Given the description of an element on the screen output the (x, y) to click on. 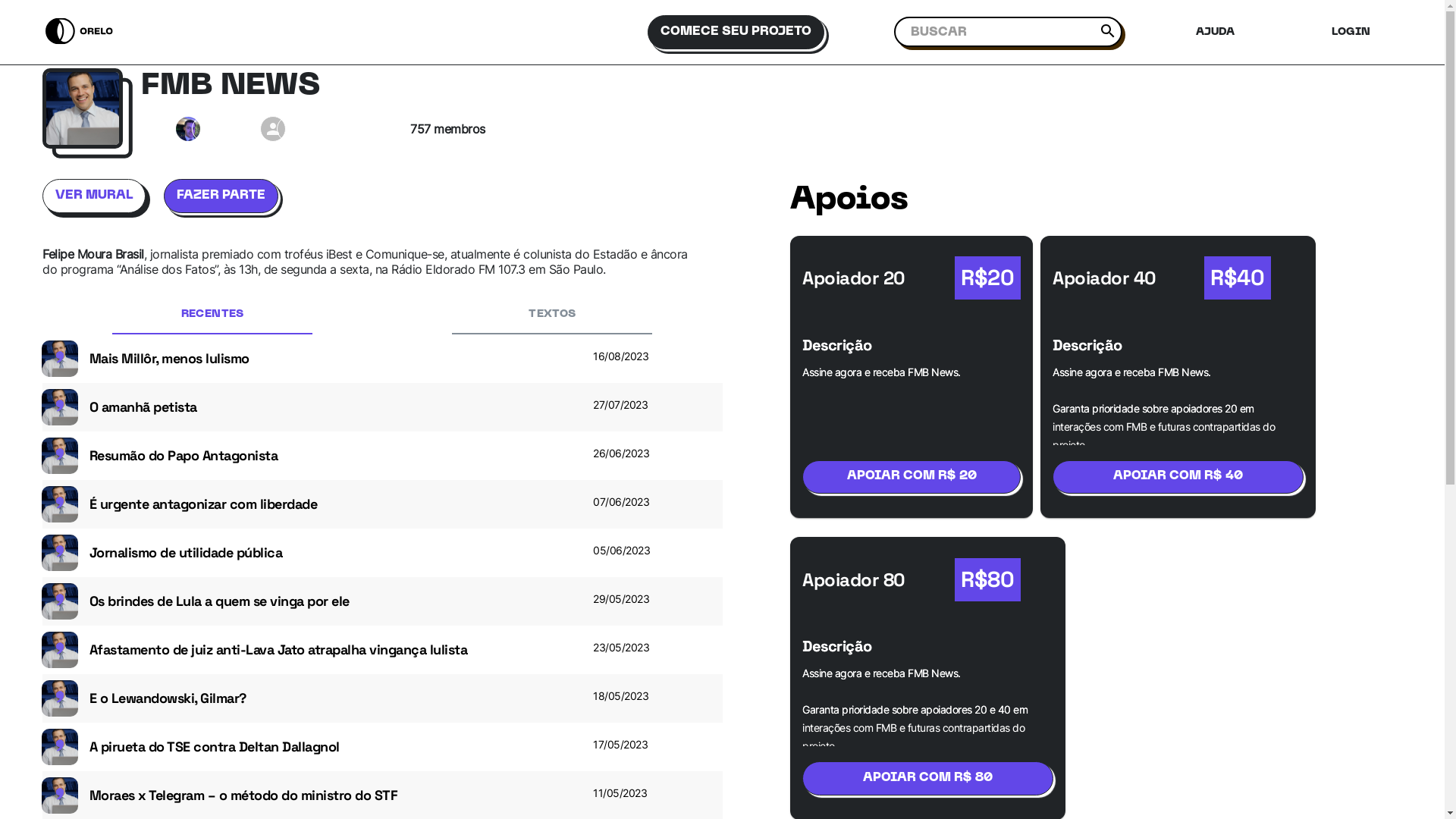
LOGIN Element type: text (1360, 32)
COMECE SEU PROJETO Element type: text (741, 32)
AJUDA Element type: text (1224, 32)
